Given the description of an element on the screen output the (x, y) to click on. 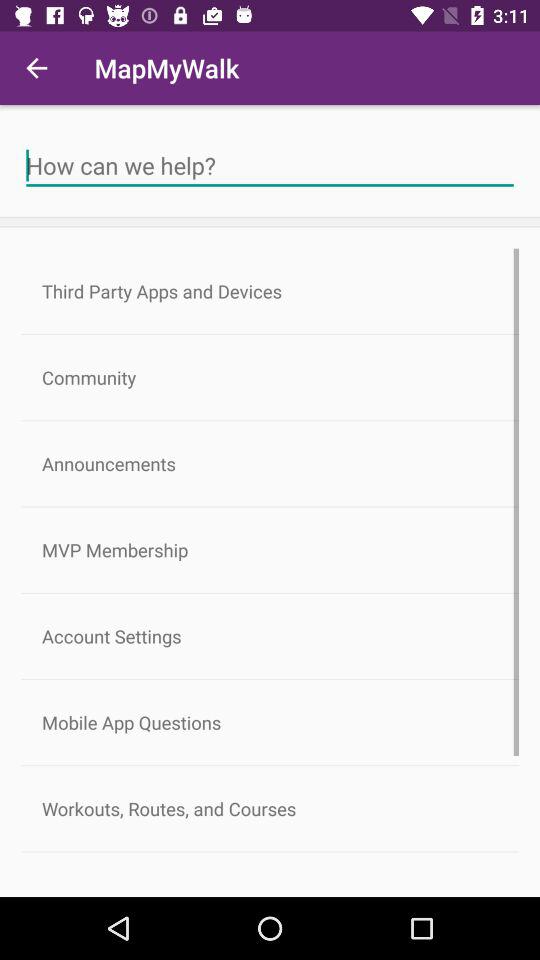
launch icon above account settings item (269, 549)
